Given the description of an element on the screen output the (x, y) to click on. 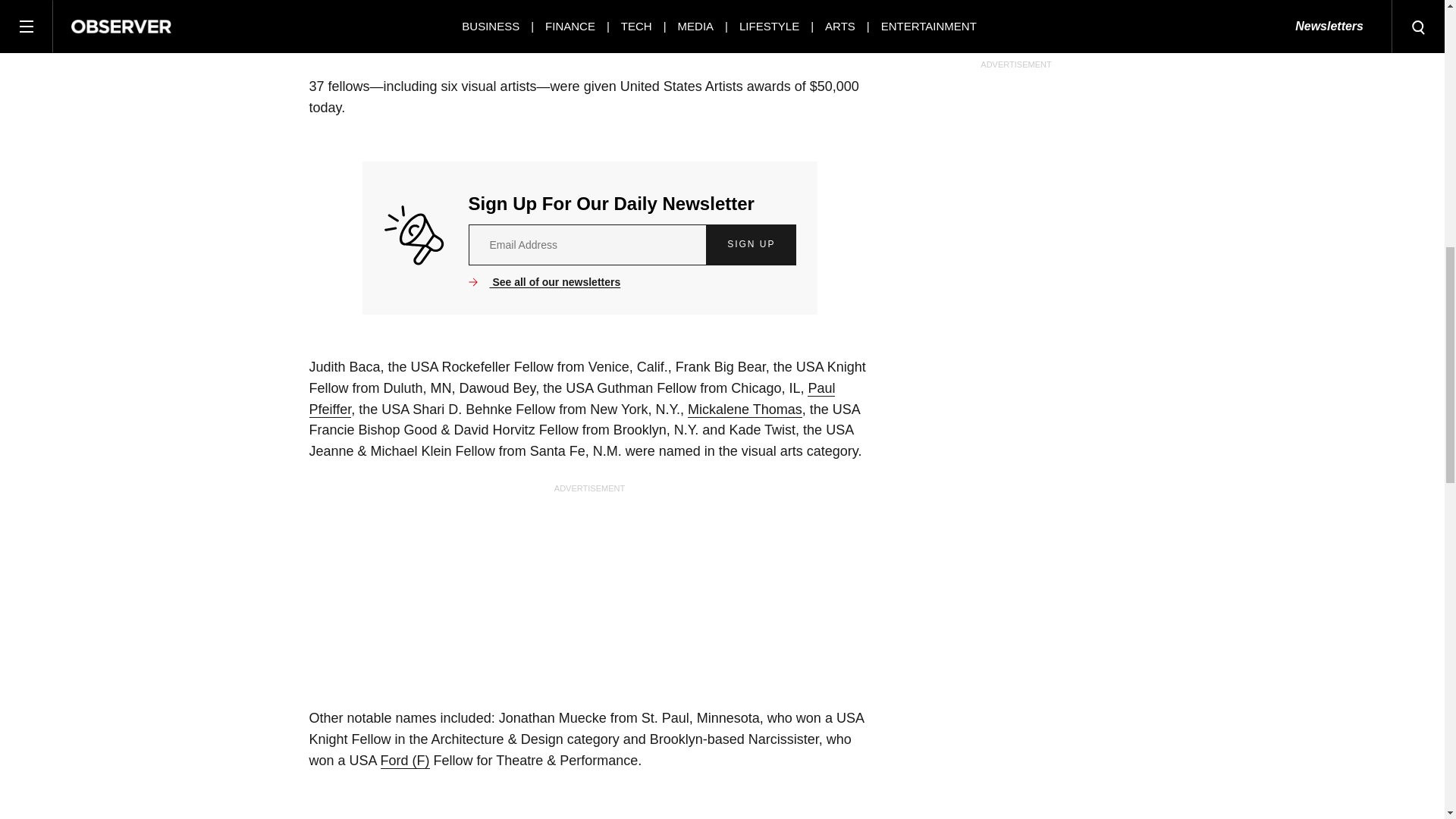
Paul Pfeiffer (571, 398)
Ford (404, 760)
Mickalene Thomas (744, 409)
